Given the description of an element on the screen output the (x, y) to click on. 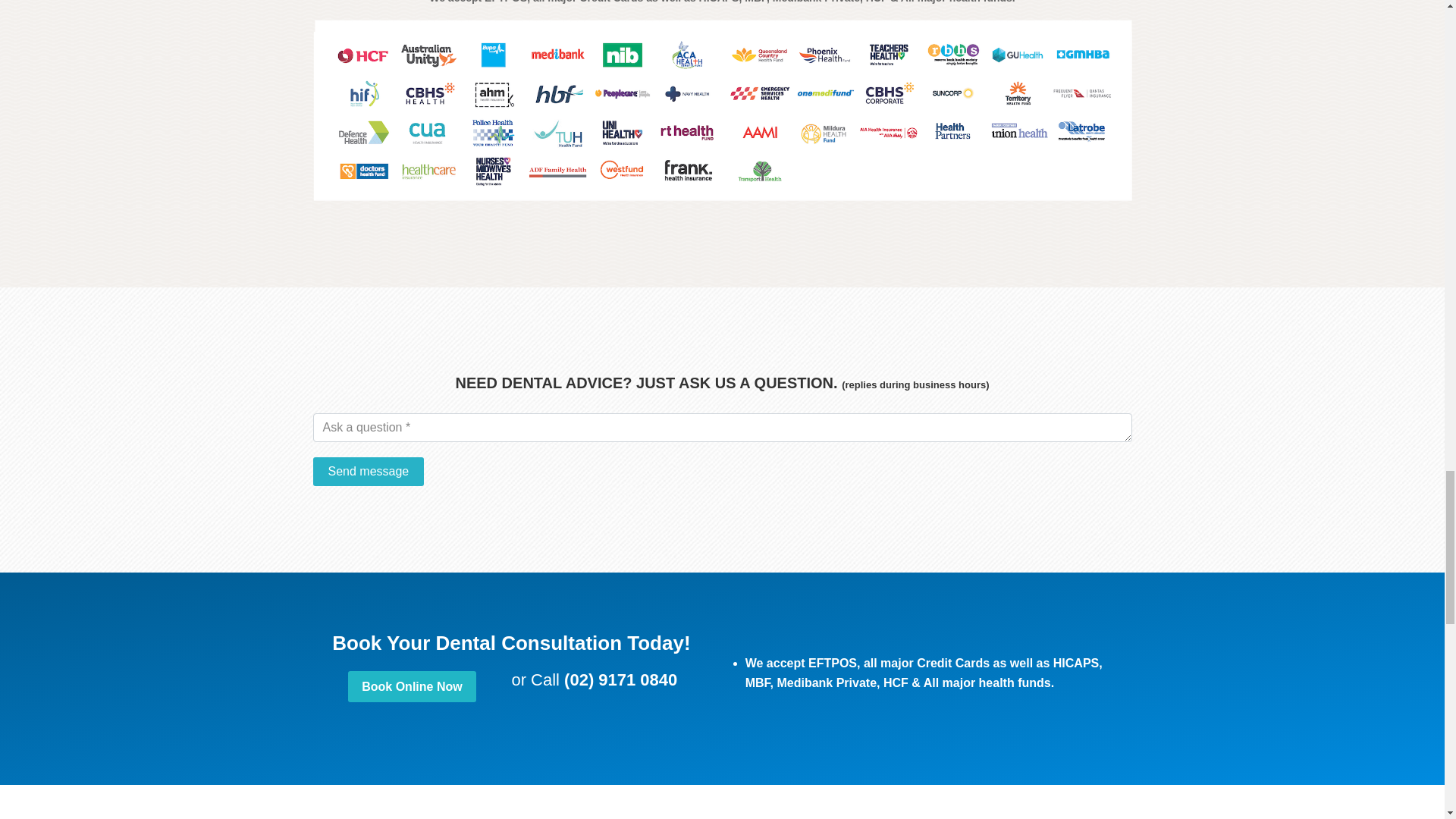
Send message (368, 471)
